Given the description of an element on the screen output the (x, y) to click on. 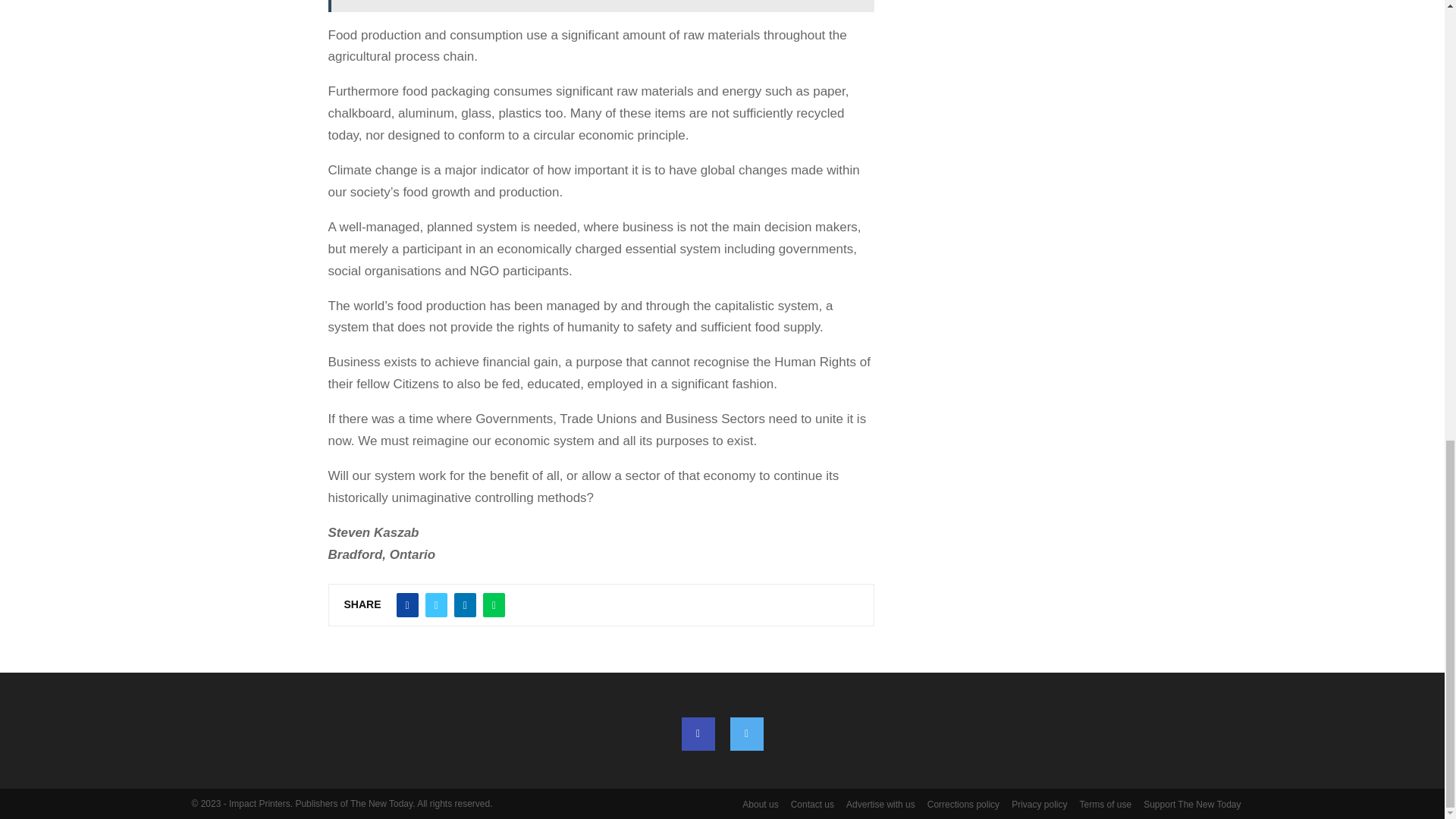
Facebook (697, 734)
Related:  Economic chaos: Prefabricated? (600, 6)
Twitter (745, 734)
